Given the description of an element on the screen output the (x, y) to click on. 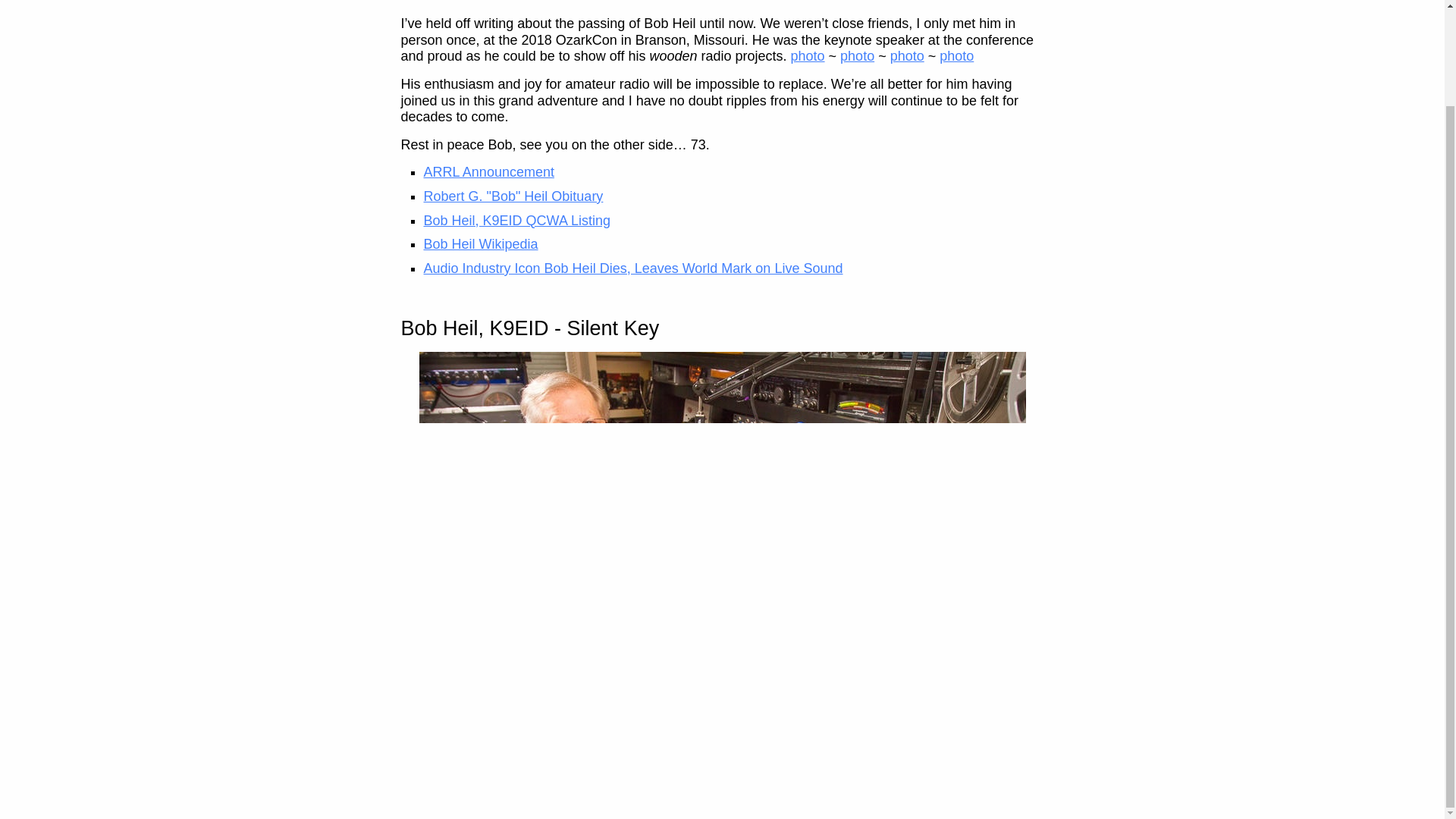
photo (956, 55)
Robert G. "Bob" Heil Obituary (512, 196)
photo (807, 55)
Bob Heil, K9EID QCWA Listing (516, 220)
ARRL Announcement (488, 171)
photo (906, 55)
photo (857, 55)
Bob Heil Wikipedia (480, 243)
